Given the description of an element on the screen output the (x, y) to click on. 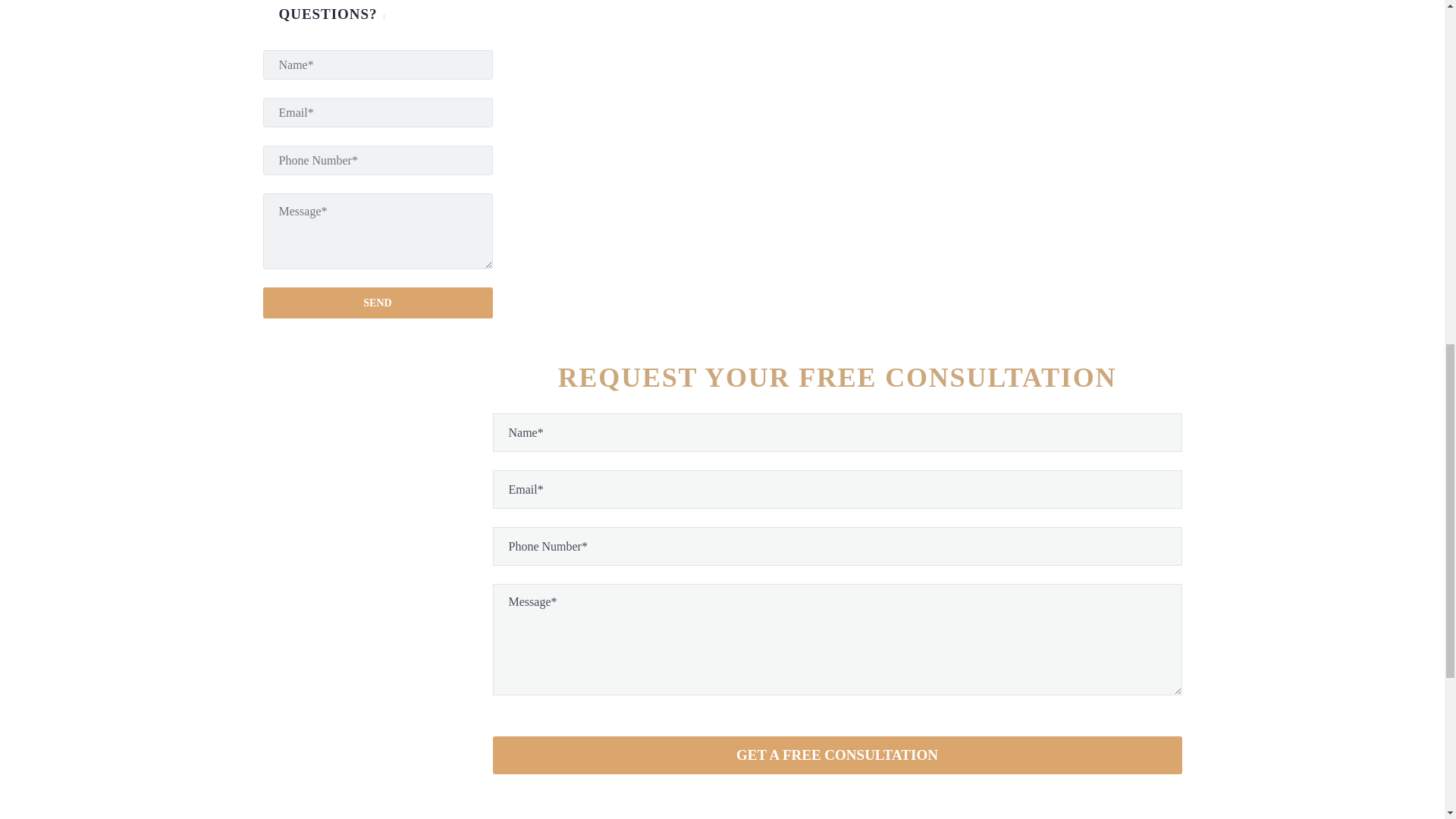
Get A Free Consultation (837, 754)
Get A Free Consultation (837, 754)
Send (377, 302)
